Given the description of an element on the screen output the (x, y) to click on. 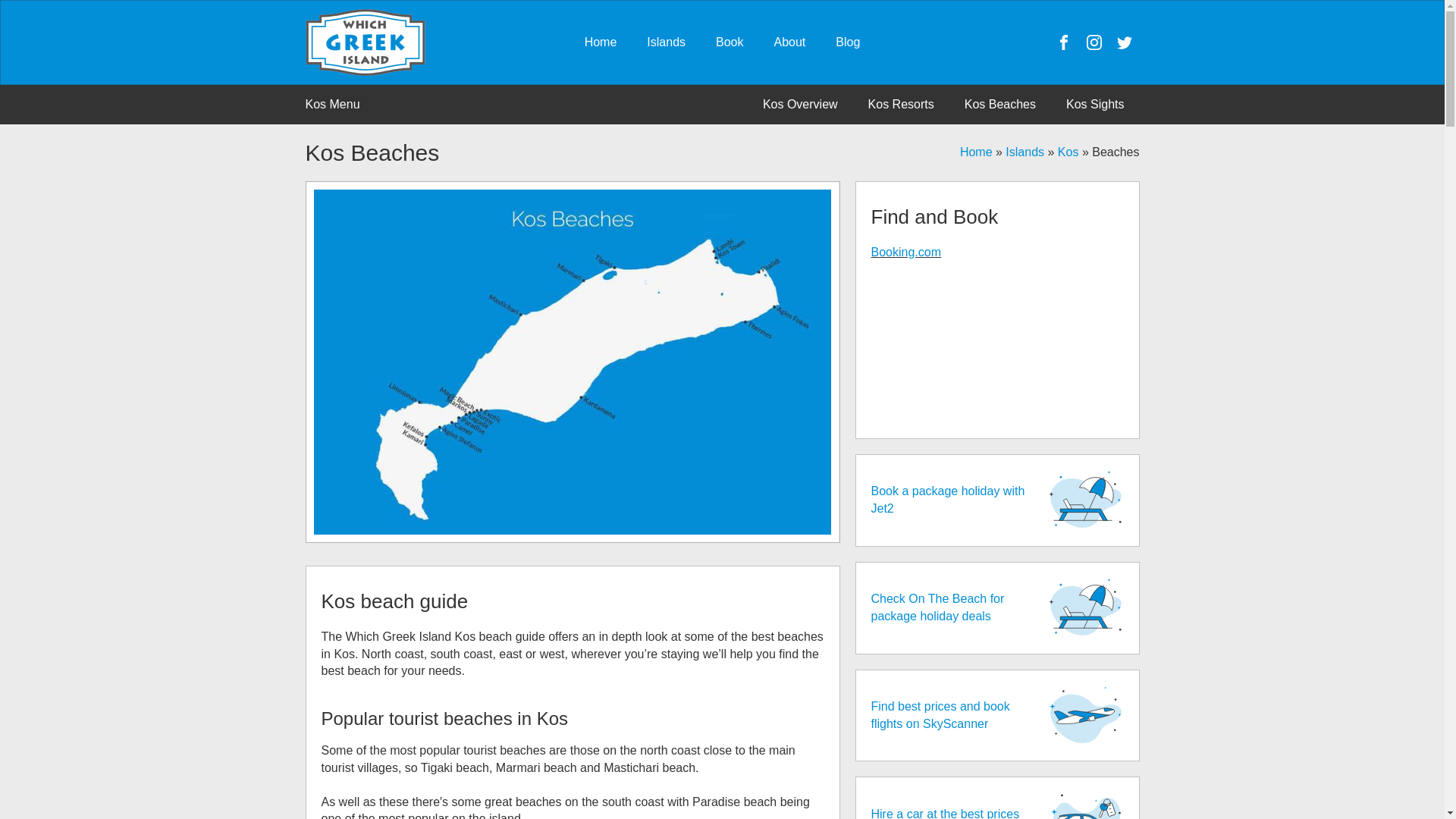
Home (600, 42)
Kos Resorts (901, 104)
Book (729, 42)
Kos Overview (800, 104)
Kos Beaches (1000, 104)
About (789, 42)
Blog (848, 42)
Islands (665, 42)
Home (975, 151)
Kos (1068, 151)
